Given the description of an element on the screen output the (x, y) to click on. 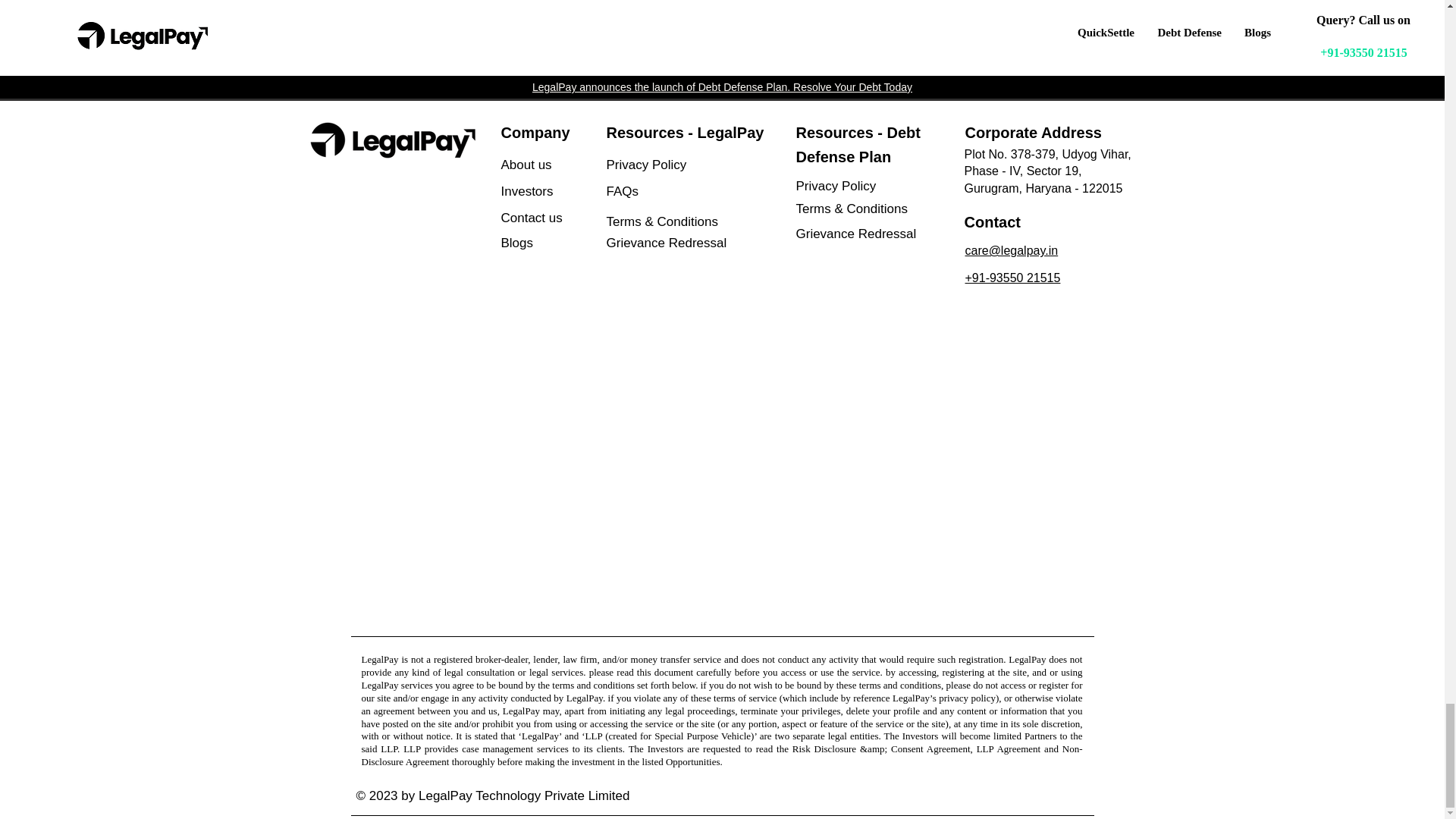
Investors (553, 191)
Privacy Policy (679, 165)
Contact us (563, 217)
About us (553, 165)
FAQs (679, 191)
